Given the description of an element on the screen output the (x, y) to click on. 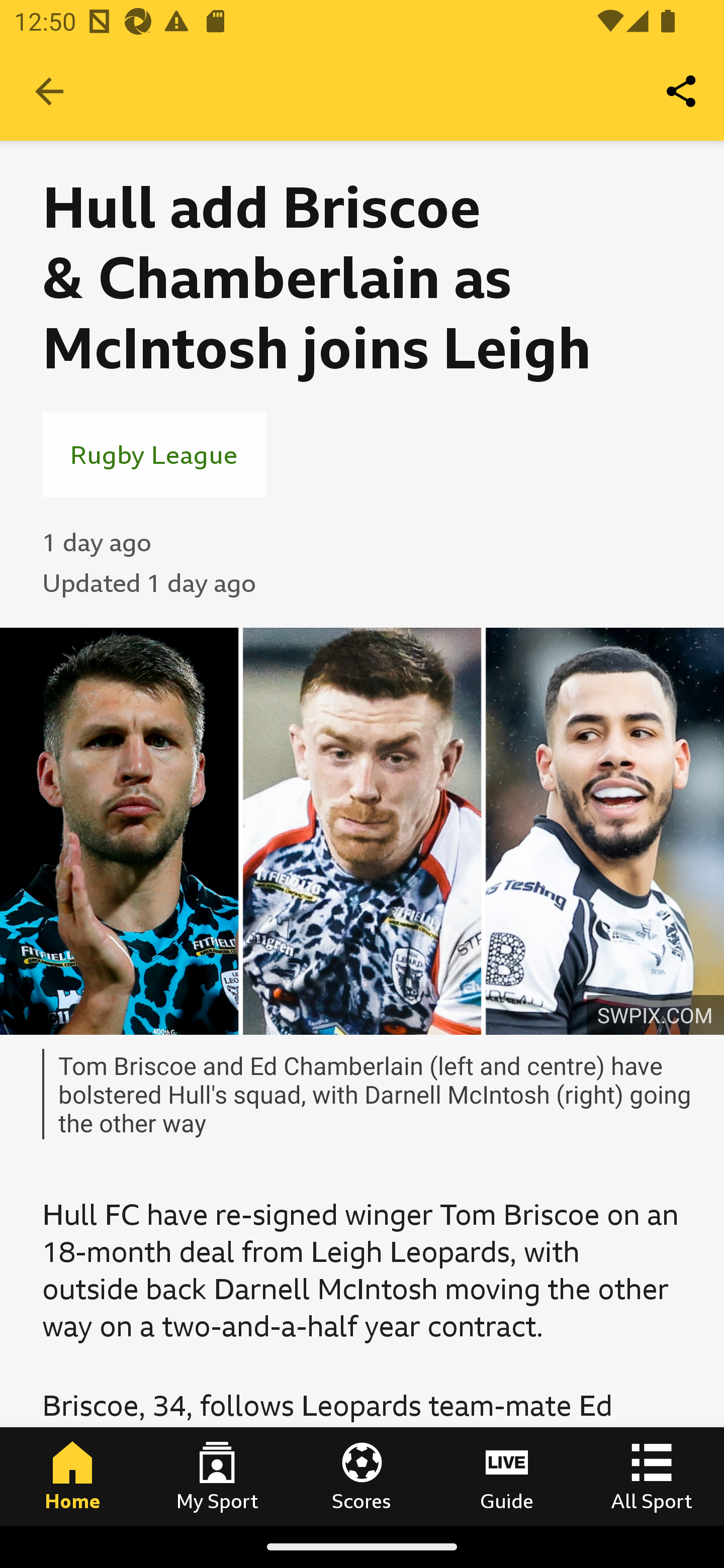
Navigate up (49, 91)
Share (681, 90)
Rugby League (153, 454)
My Sport (216, 1475)
Scores (361, 1475)
Guide (506, 1475)
All Sport (651, 1475)
